Given the description of an element on the screen output the (x, y) to click on. 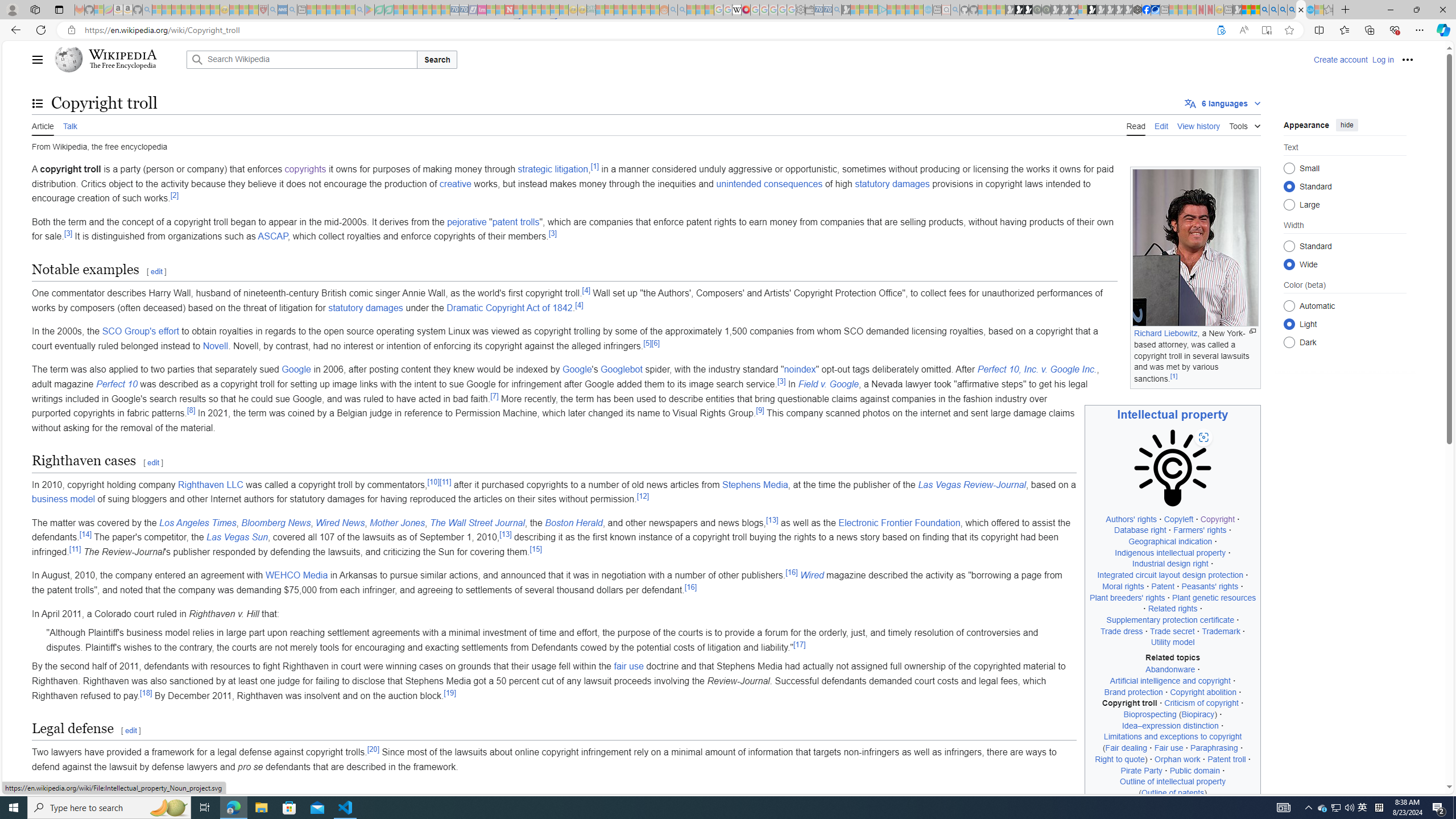
Authors' rights (1131, 519)
Utility model (1172, 642)
Class: mw-list-item mw-list-item-js (1345, 323)
github - Search - Sleeping (954, 9)
google - Search - Sleeping (359, 9)
Talk (69, 124)
[19] (449, 691)
Related topics (1172, 658)
